Given the description of an element on the screen output the (x, y) to click on. 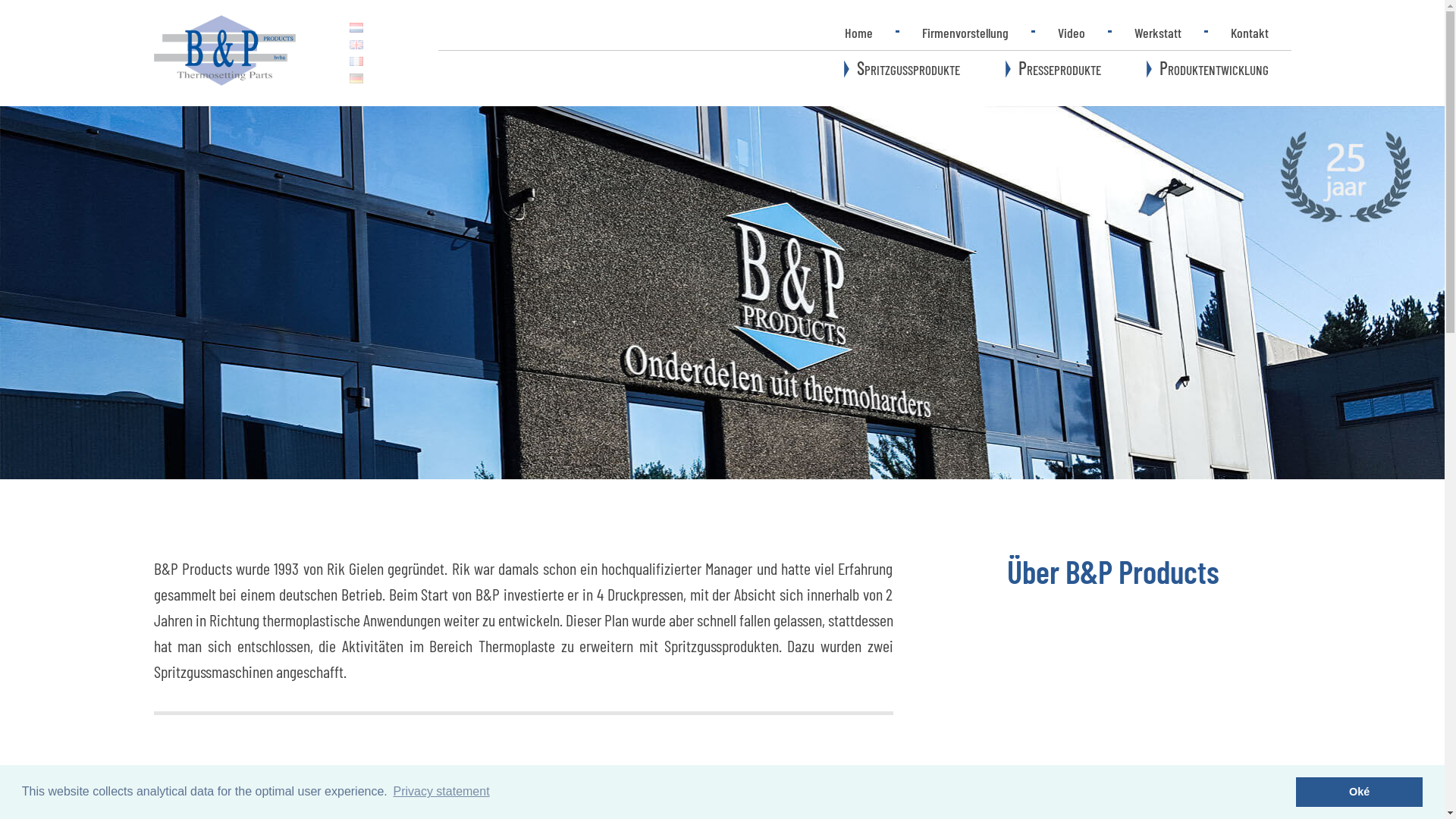
Home Element type: text (858, 32)
Kontakt Element type: text (1248, 32)
Presseprodukte Element type: text (1052, 70)
Werkstatt Element type: text (1157, 32)
Firmenvorstellung Element type: text (965, 32)
Produktentwicklung Element type: text (1207, 70)
Spritzgussprodukte Element type: text (901, 70)
Video Element type: text (1070, 32)
Privacy statement Element type: text (441, 791)
